Given the description of an element on the screen output the (x, y) to click on. 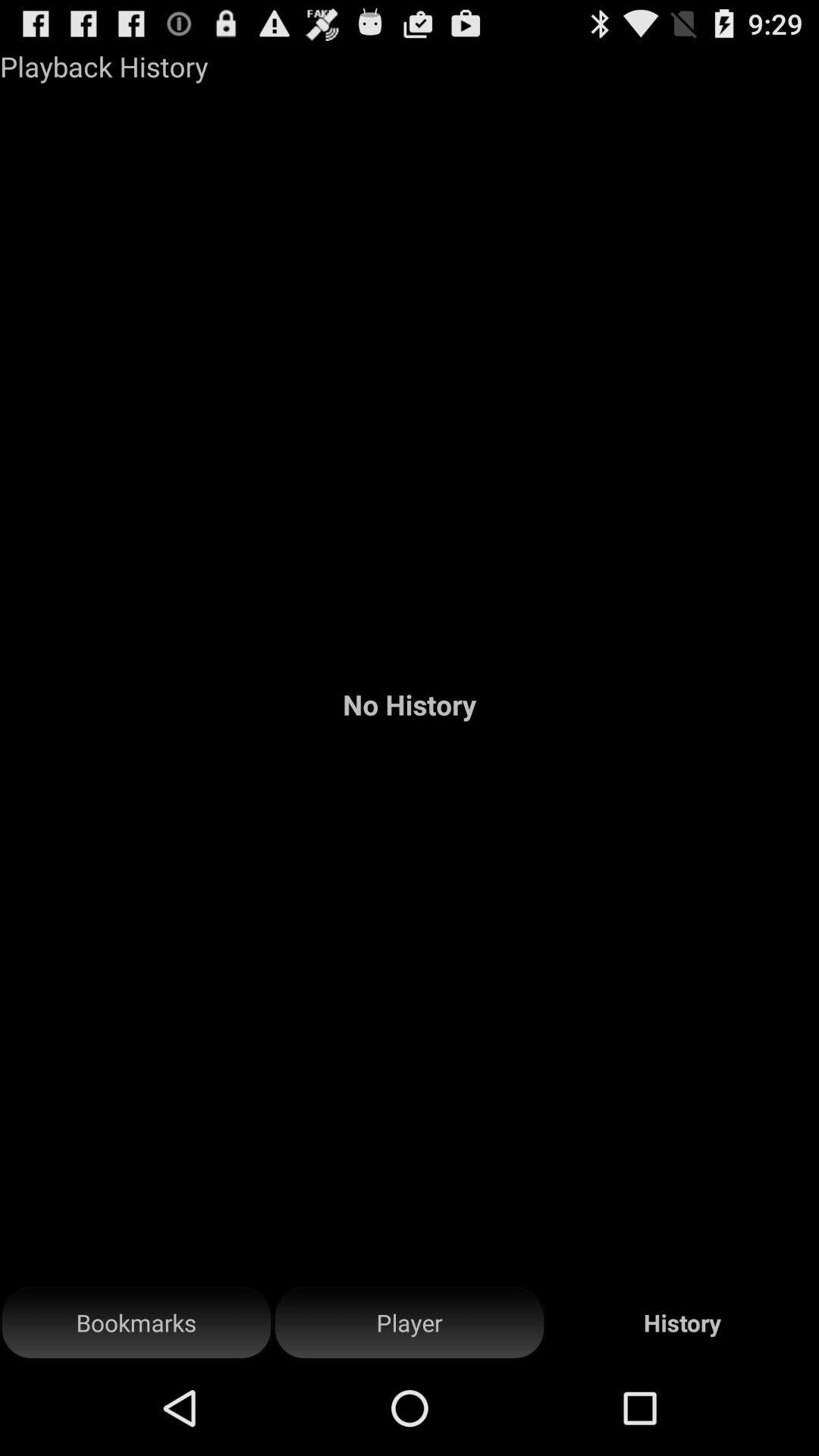
open item below no history app (136, 1323)
